Given the description of an element on the screen output the (x, y) to click on. 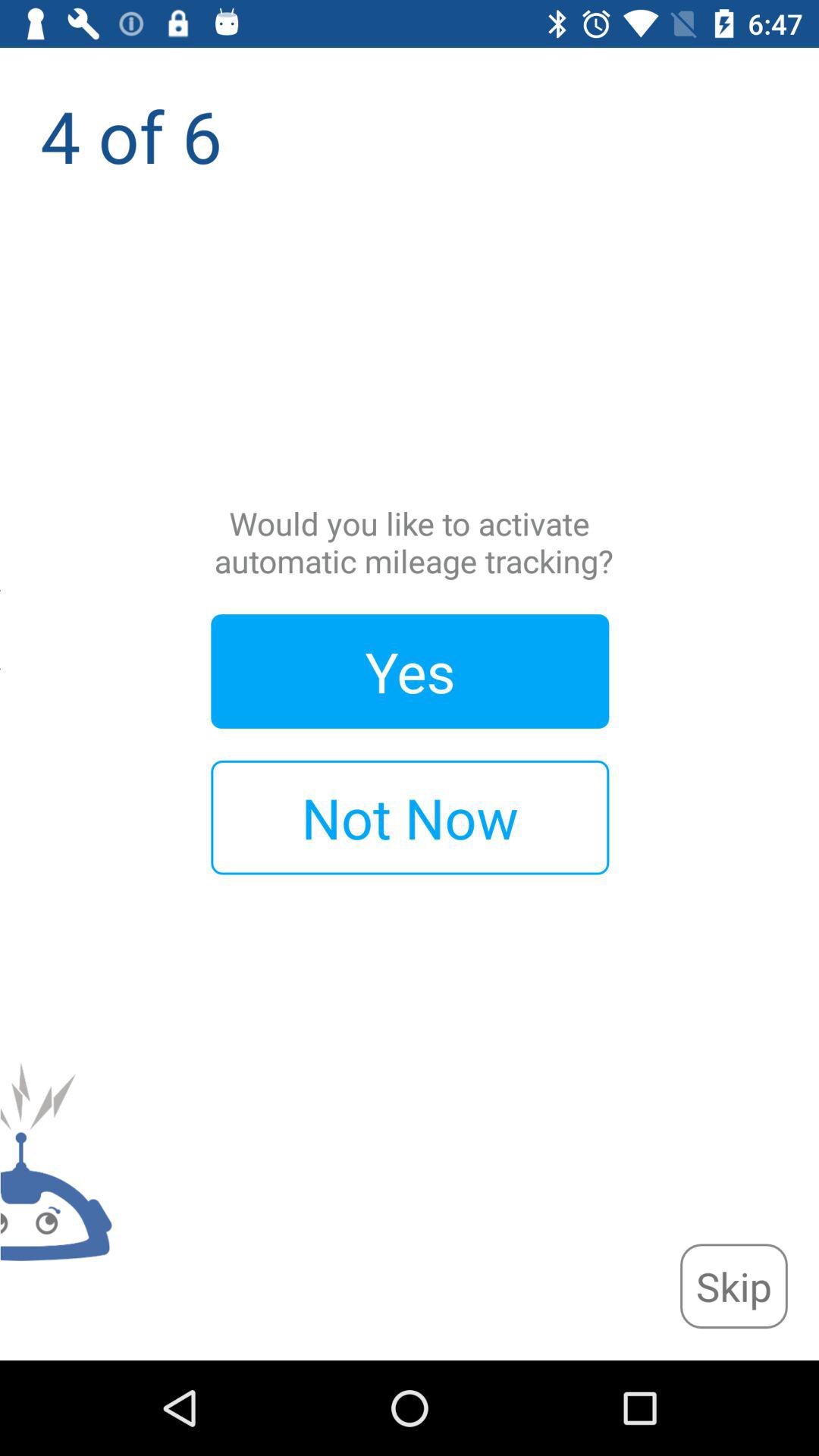
select not now item (409, 817)
